Given the description of an element on the screen output the (x, y) to click on. 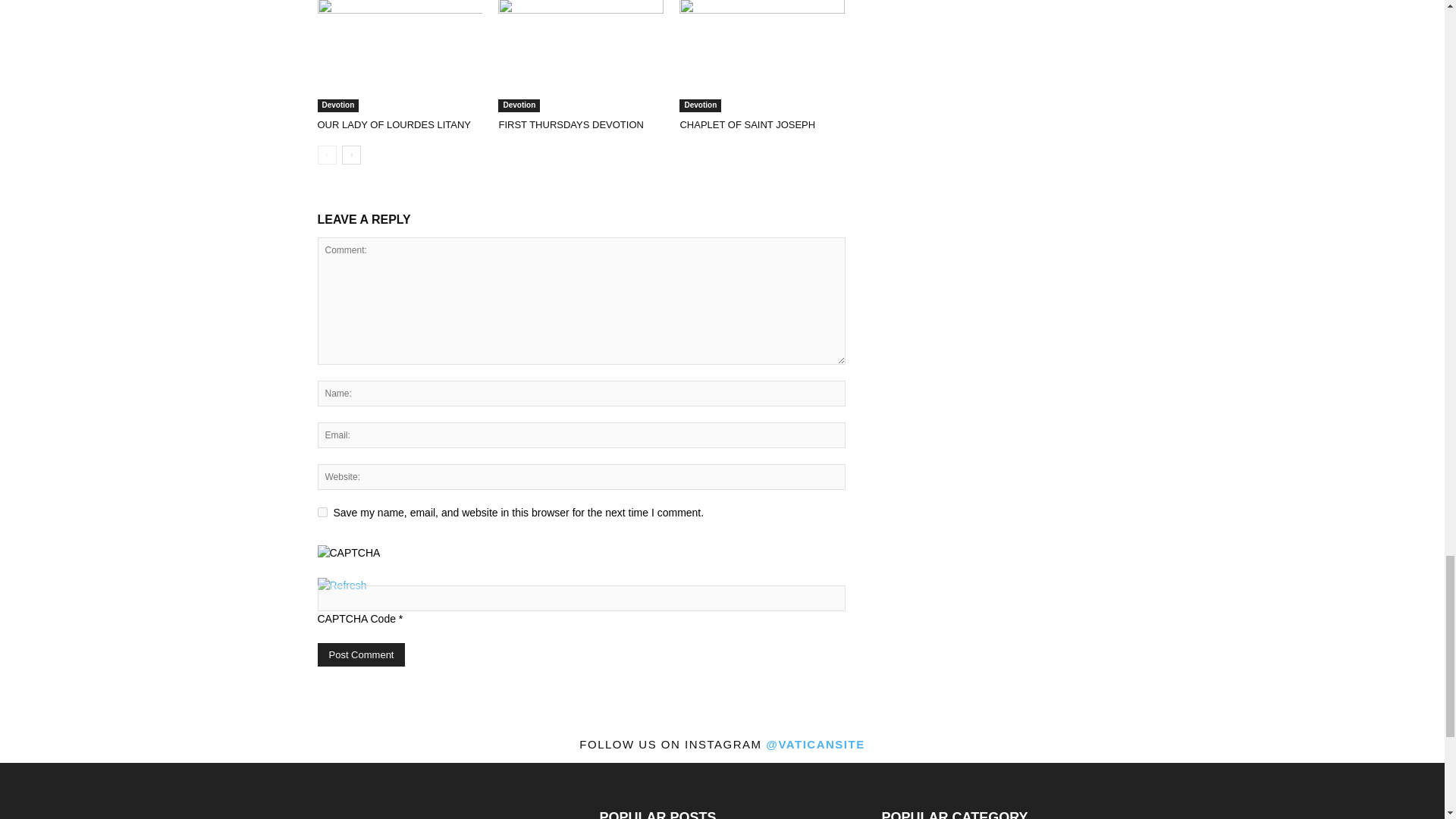
FIRST THURSDAYS DEVOTION (580, 56)
OUR LADY OF LOURDES LITANY (399, 56)
yes (321, 511)
OUR LADY OF LOURDES LITANY (393, 124)
Post Comment (360, 654)
